Given the description of an element on the screen output the (x, y) to click on. 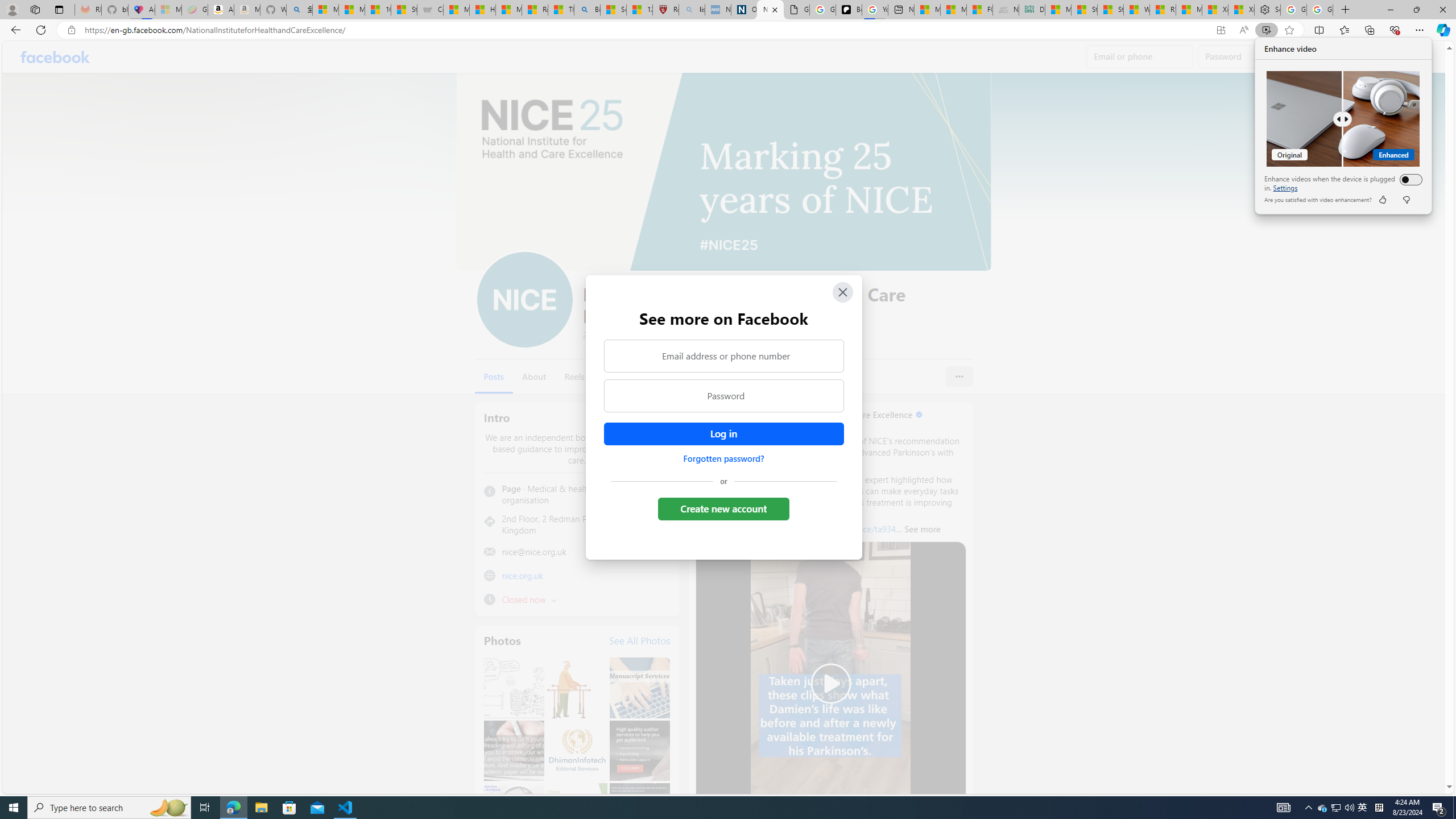
Microsoft Store (289, 807)
New Tab (1362, 807)
Enhance videos (1346, 9)
Q2790: 100% (1407, 179)
Science - MSN (1349, 807)
New tab (613, 9)
like (900, 9)
View site information (1382, 199)
Close (70, 29)
Email or phone (842, 291)
